Given the description of an element on the screen output the (x, y) to click on. 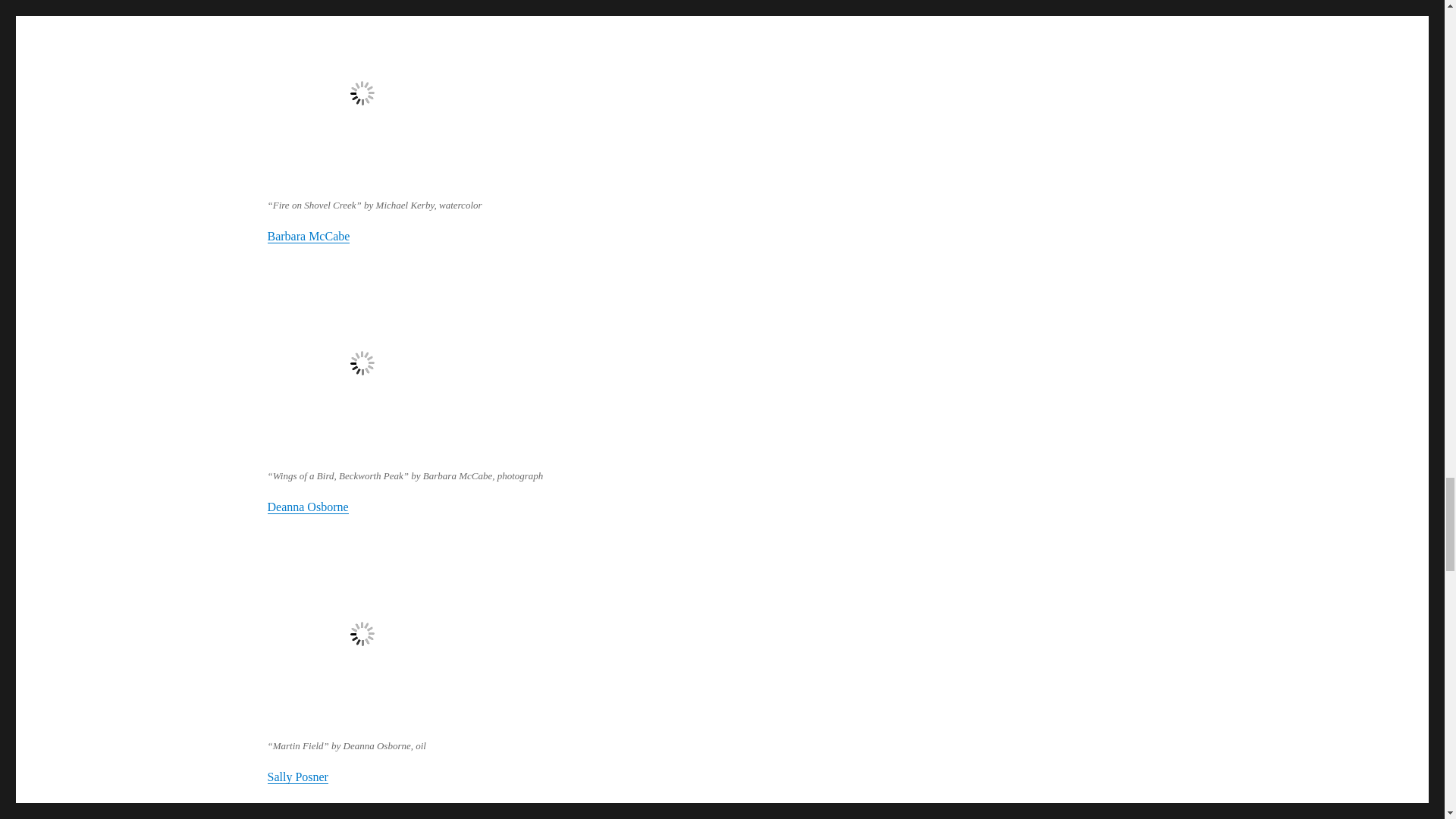
Sally Posner (296, 776)
Deanna Osborne (306, 506)
Barbara McCabe (307, 236)
